Given the description of an element on the screen output the (x, y) to click on. 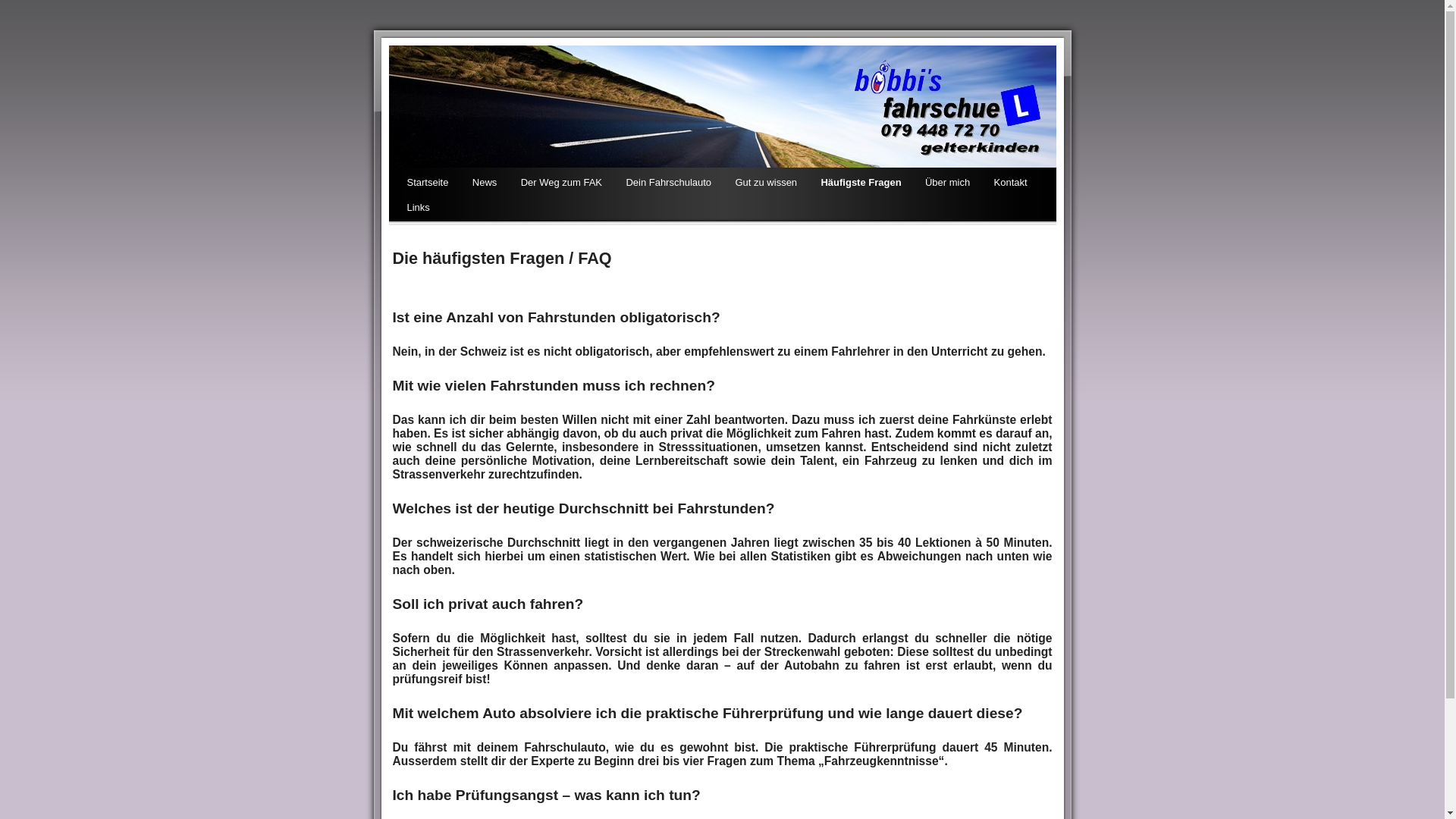
Der Weg zum FAK Element type: text (561, 183)
Dein Fahrschulauto Element type: text (668, 183)
Startseite Element type: text (426, 183)
Gut zu wissen Element type: text (765, 183)
Links Element type: text (417, 208)
News Element type: text (484, 183)
Kontakt Element type: text (1010, 183)
